Given the description of an element on the screen output the (x, y) to click on. 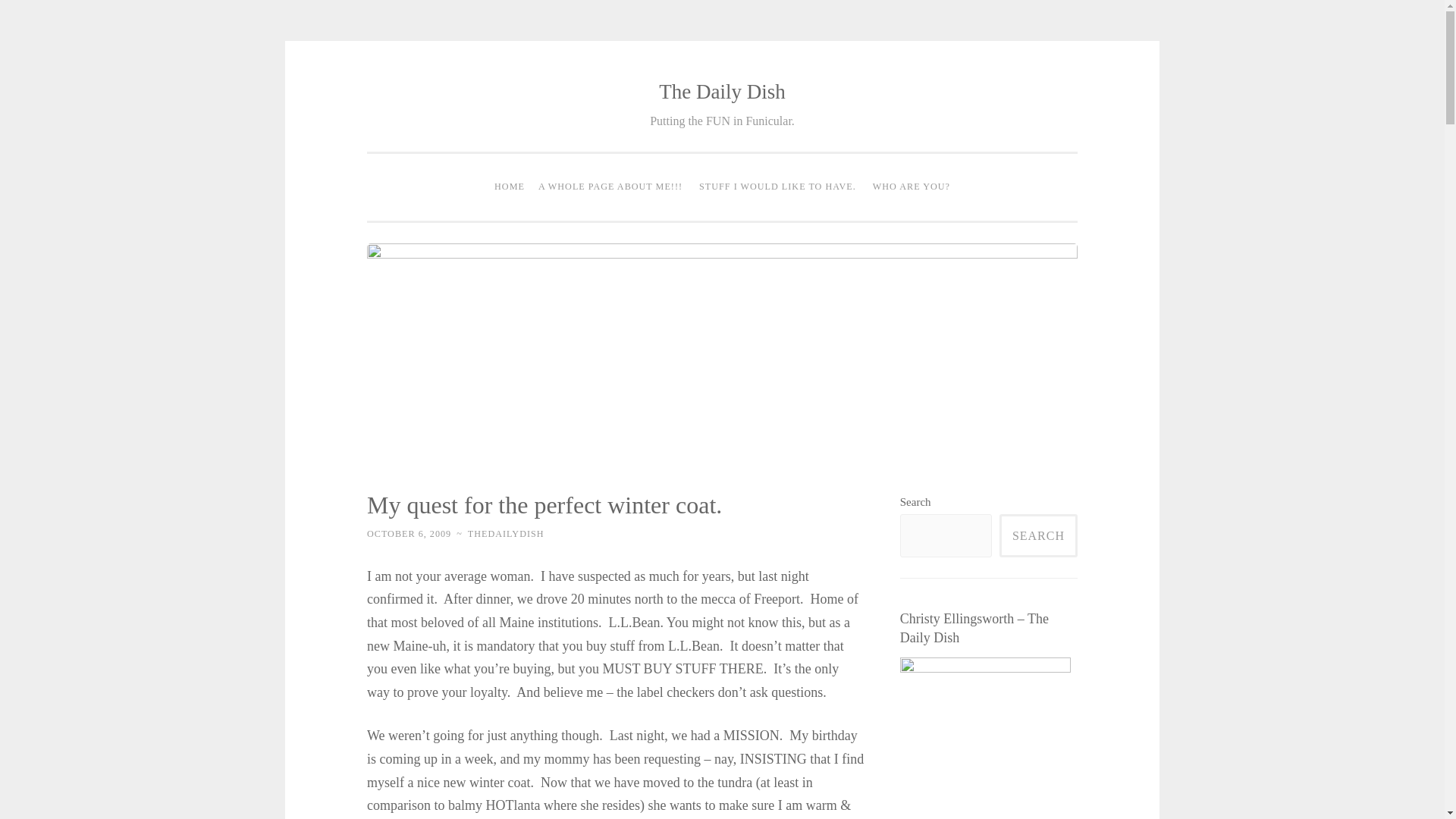
The Daily Dish (721, 91)
A WHOLE PAGE ABOUT ME!!! (609, 186)
Christy Ellingsworth - The Daily Dish (984, 738)
OCTOBER 6, 2009 (408, 533)
HOME (509, 186)
THEDAILYDISH (505, 533)
WHO ARE YOU? (911, 186)
STUFF I WOULD LIKE TO HAVE. (778, 186)
